Given the description of an element on the screen output the (x, y) to click on. 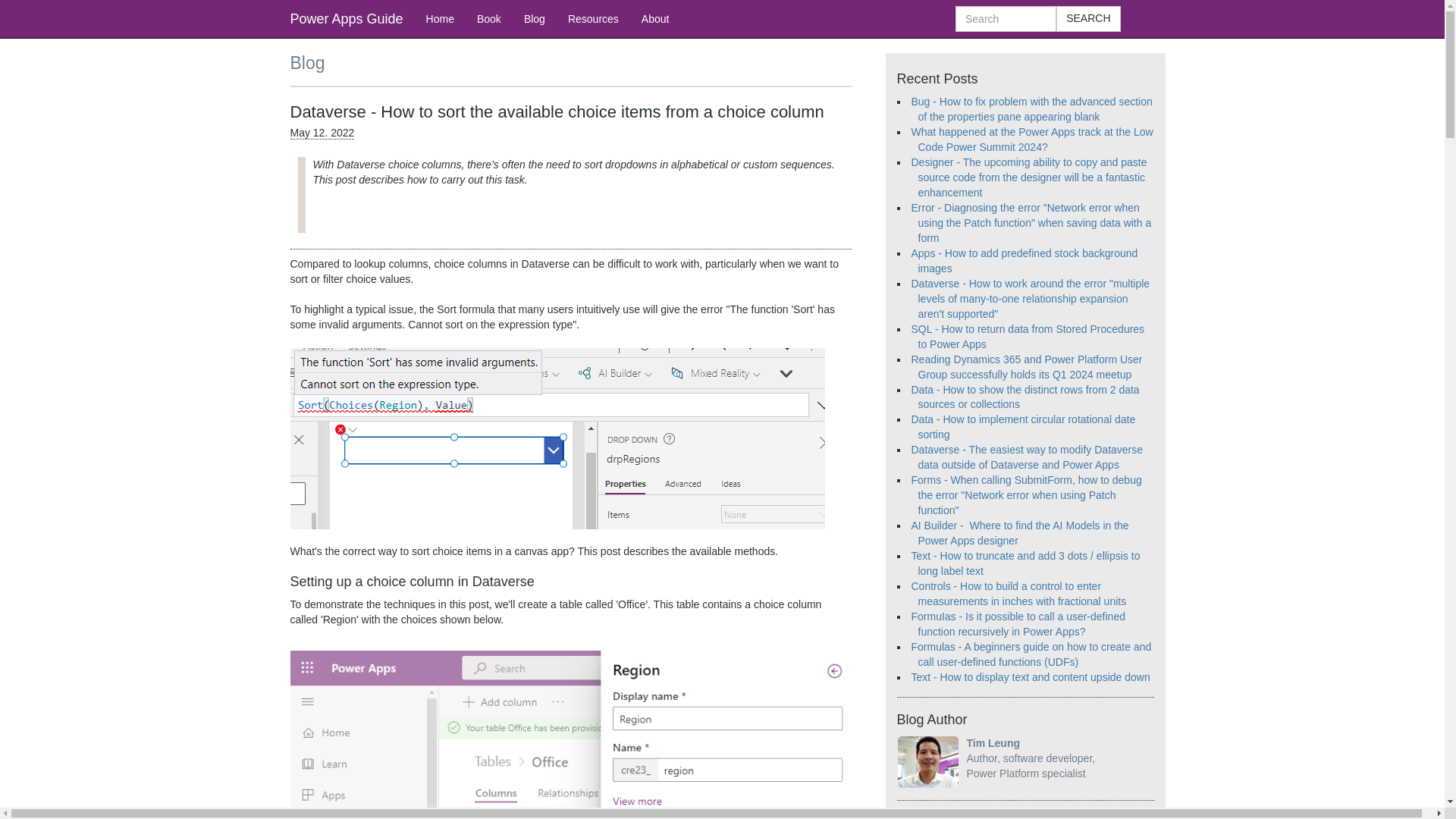
Resources (593, 18)
Power Apps Guide (346, 18)
Home (439, 18)
About (655, 18)
SEARCH (1088, 18)
Apps - How to add predefined stock background images (1024, 260)
Data - How to implement circular rotational date sorting (1023, 426)
Blog (534, 18)
